Given the description of an element on the screen output the (x, y) to click on. 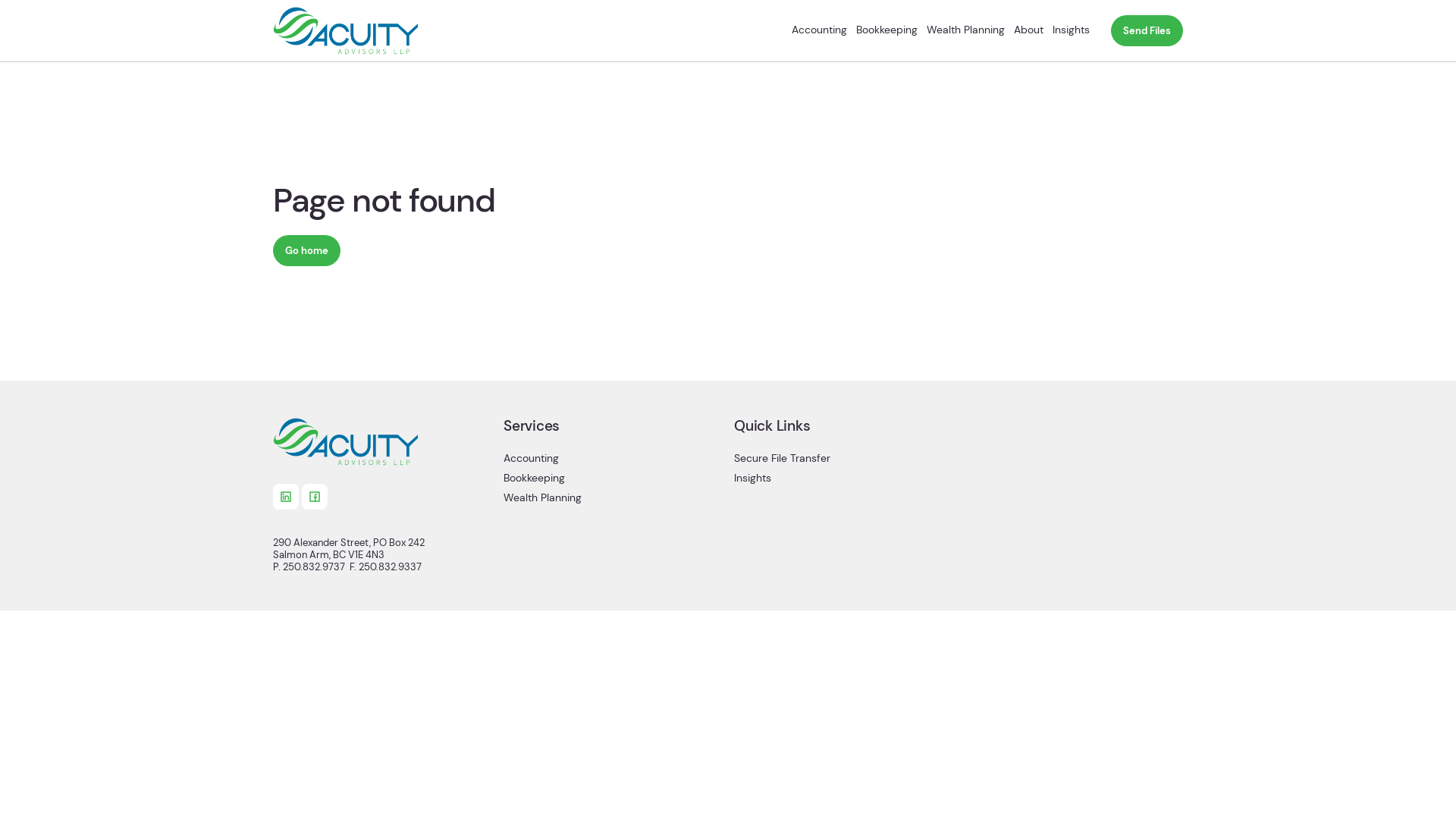
Send Files Element type: text (1146, 30)
Accounting Element type: text (612, 463)
About Element type: text (1028, 30)
Bookkeeping Element type: text (612, 482)
Bookkeeping Element type: text (886, 30)
Accounting Element type: text (819, 30)
Wealth Planning Element type: text (965, 30)
Go home Element type: text (306, 250)
Insights Element type: text (1070, 30)
Secure File Transfer Element type: text (843, 463)
Wealth Planning Element type: text (612, 502)
Insights Element type: text (843, 482)
250.832.9737 Element type: text (313, 566)
